Given the description of an element on the screen output the (x, y) to click on. 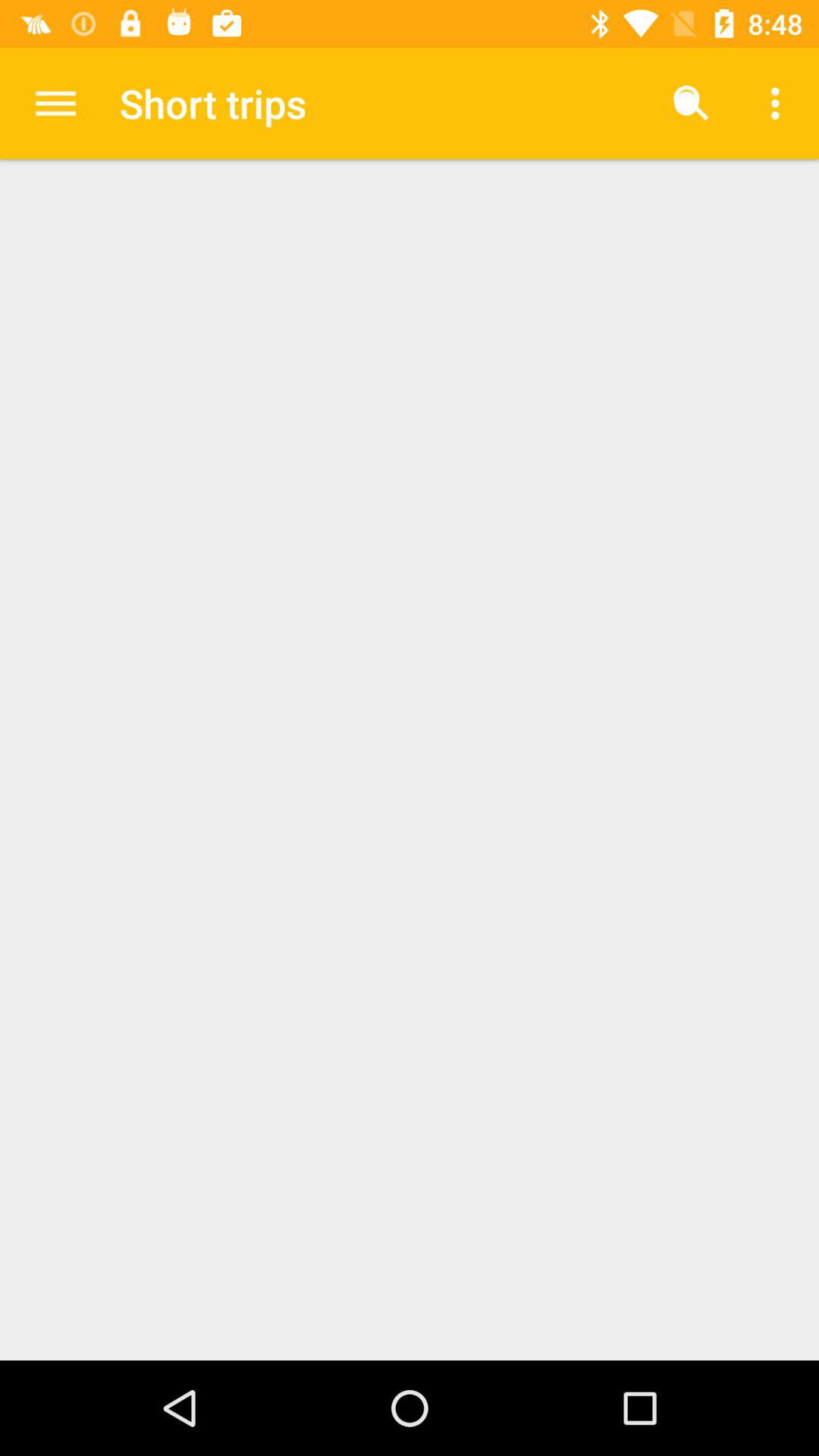
turn off item next to the short trips app (55, 103)
